Given the description of an element on the screen output the (x, y) to click on. 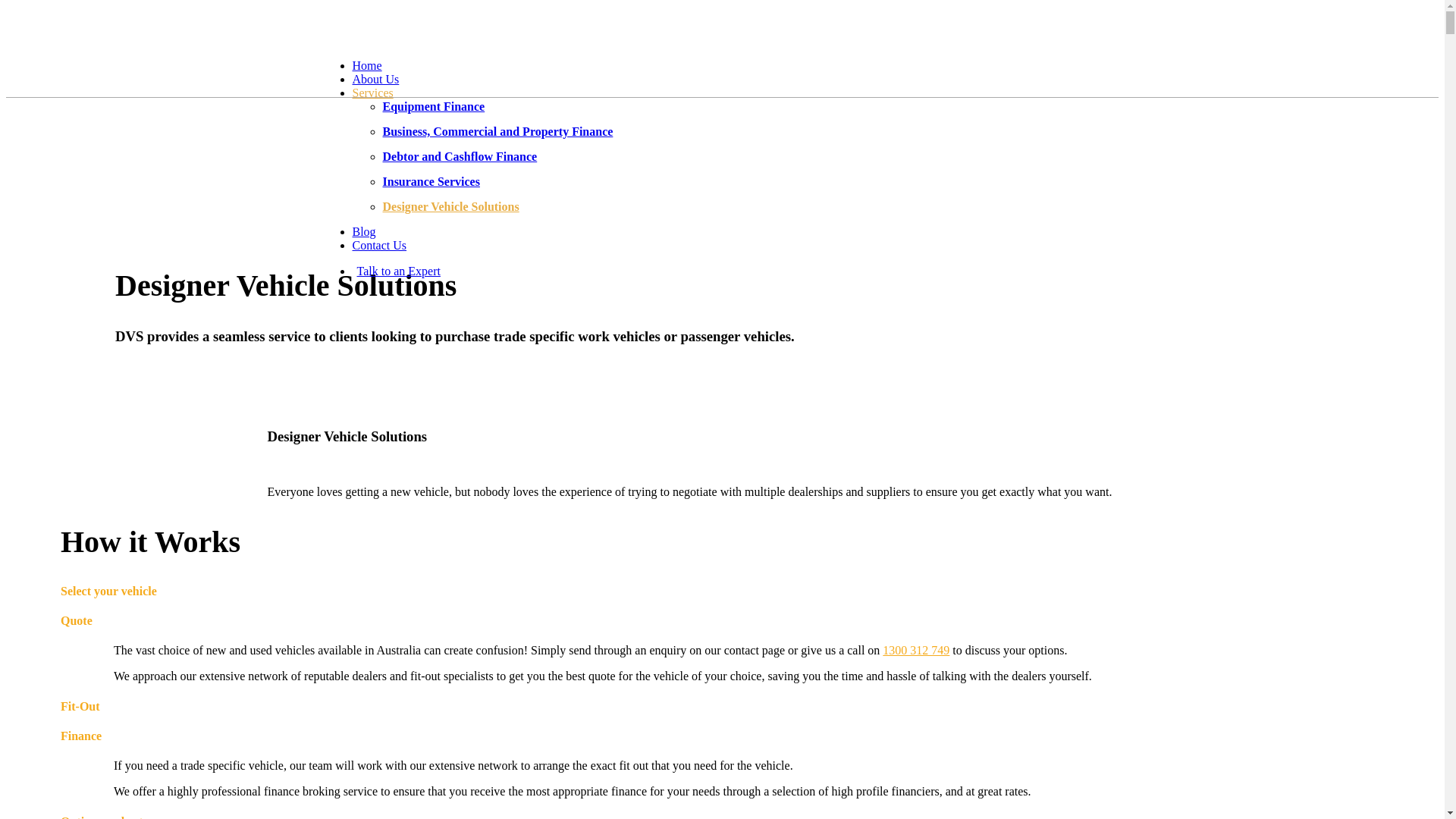
Contact Us Element type: text (378, 244)
Talk to an Expert Element type: text (395, 270)
Debtor and Cashflow Finance Element type: text (459, 156)
1300 312 749 Element type: text (915, 649)
Insurance Services Element type: text (430, 181)
Blog Element type: text (363, 231)
Business, Commercial and Property Finance Element type: text (497, 131)
Designer Vehicle Solutions Element type: text (450, 206)
Home Element type: text (366, 65)
About Us Element type: text (374, 78)
Equipment Finance Element type: text (433, 106)
Services Element type: text (371, 92)
